Given the description of an element on the screen output the (x, y) to click on. 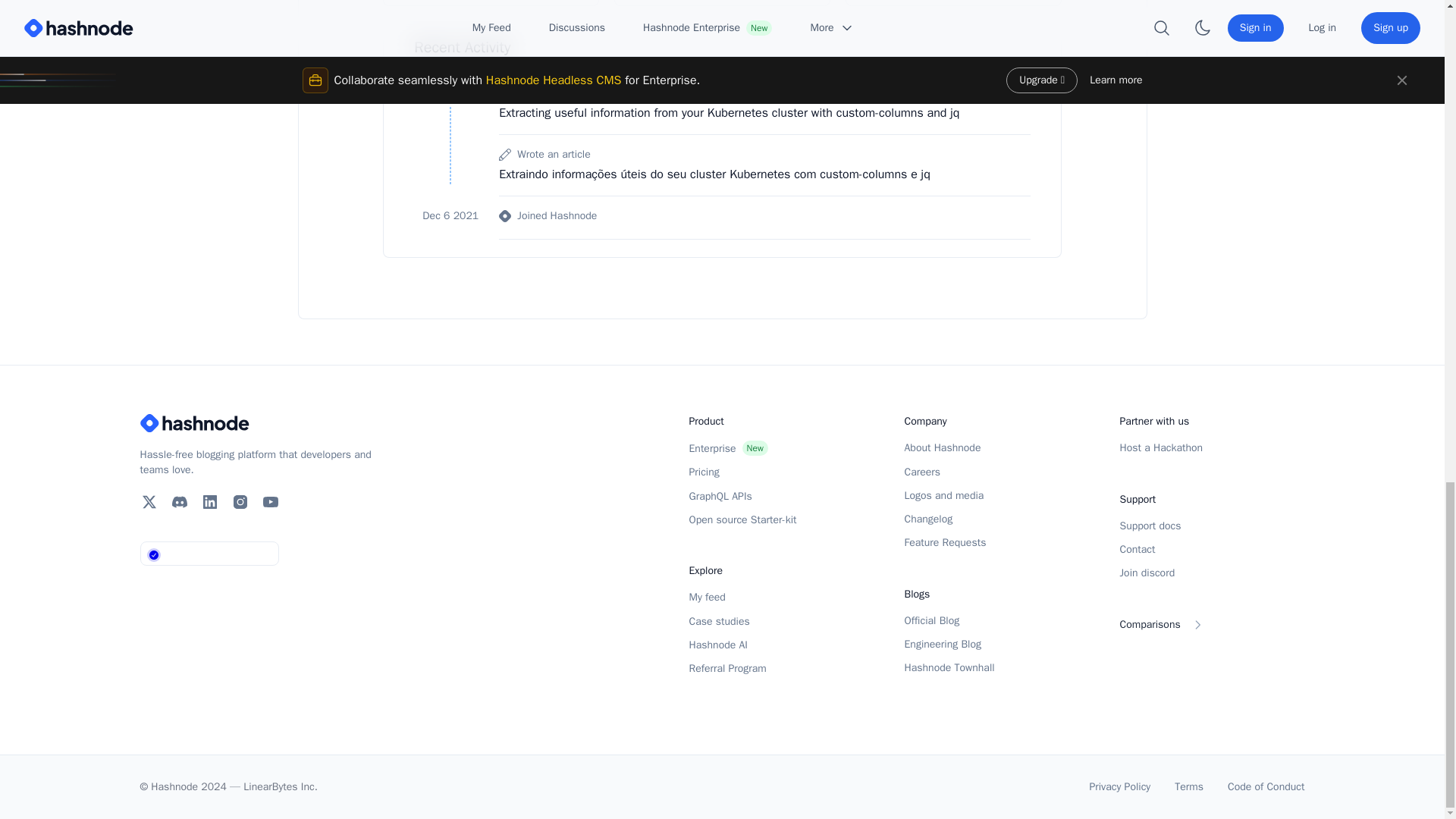
status (211, 553)
Show more (757, 218)
Hashnode (260, 423)
